Given the description of an element on the screen output the (x, y) to click on. 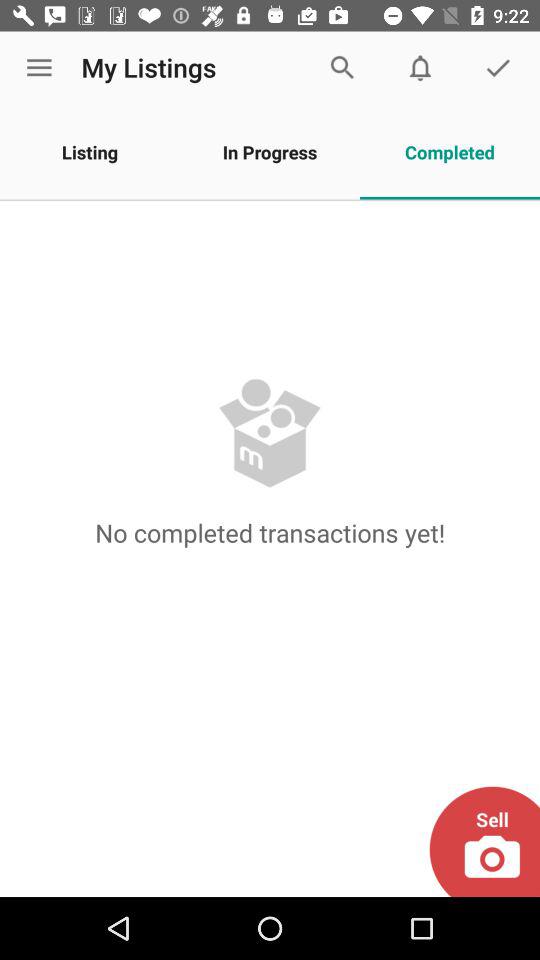
select the icon to the left of my listings item (39, 67)
